Given the description of an element on the screen output the (x, y) to click on. 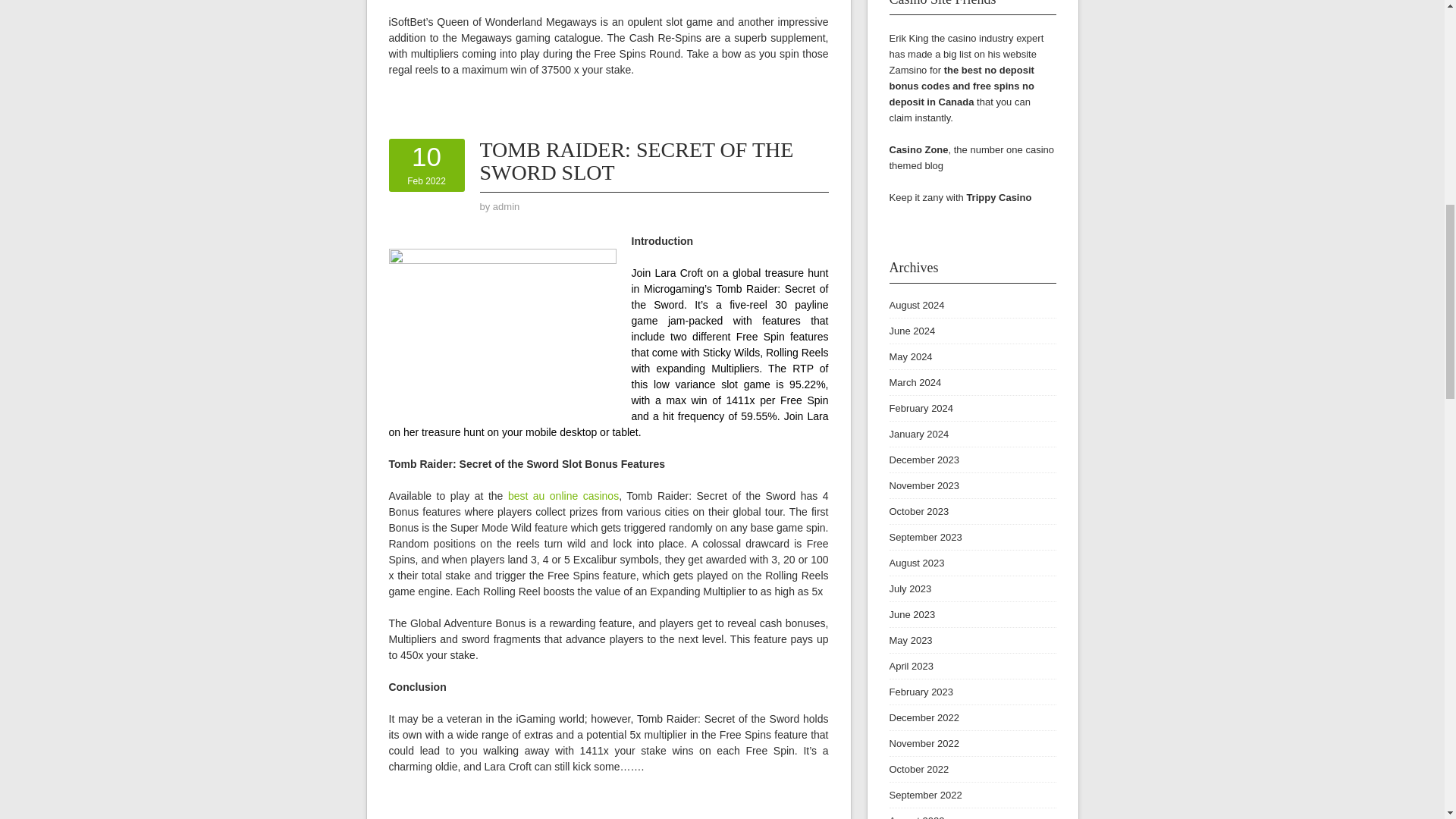
February 10, 2022 4:42 am (426, 164)
best au online casinos (563, 495)
TOMB RAIDER: SECRET OF THE SWORD SLOT (636, 161)
Casino Zone (917, 149)
by admin (506, 206)
admin (506, 206)
Trippy Casino (998, 197)
Permalink to Tomb Raider: Secret of the Sword Slot (636, 161)
